Given the description of an element on the screen output the (x, y) to click on. 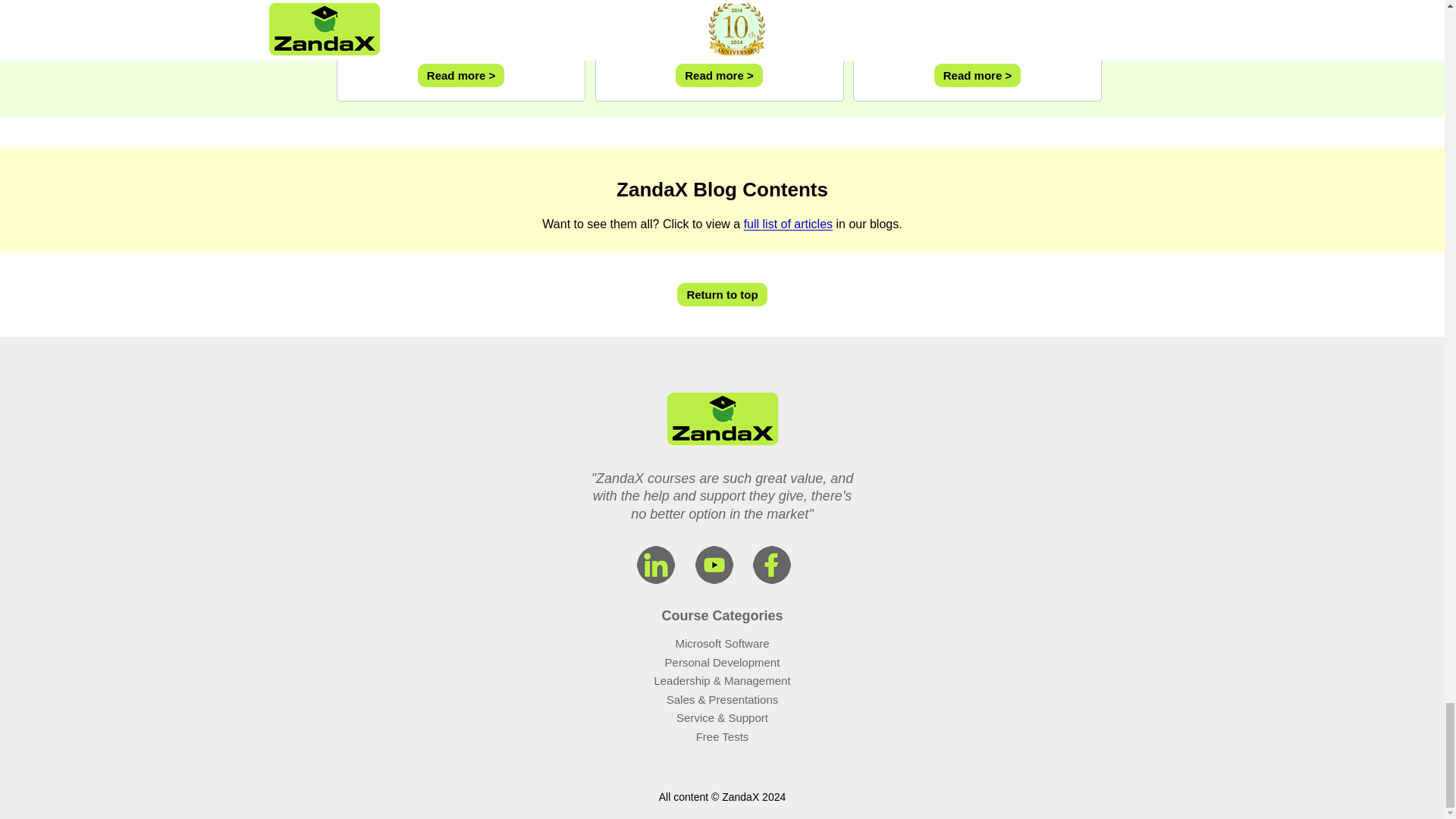
Return to top (722, 294)
full list of articles (788, 223)
Return to top (722, 294)
